Given the description of an element on the screen output the (x, y) to click on. 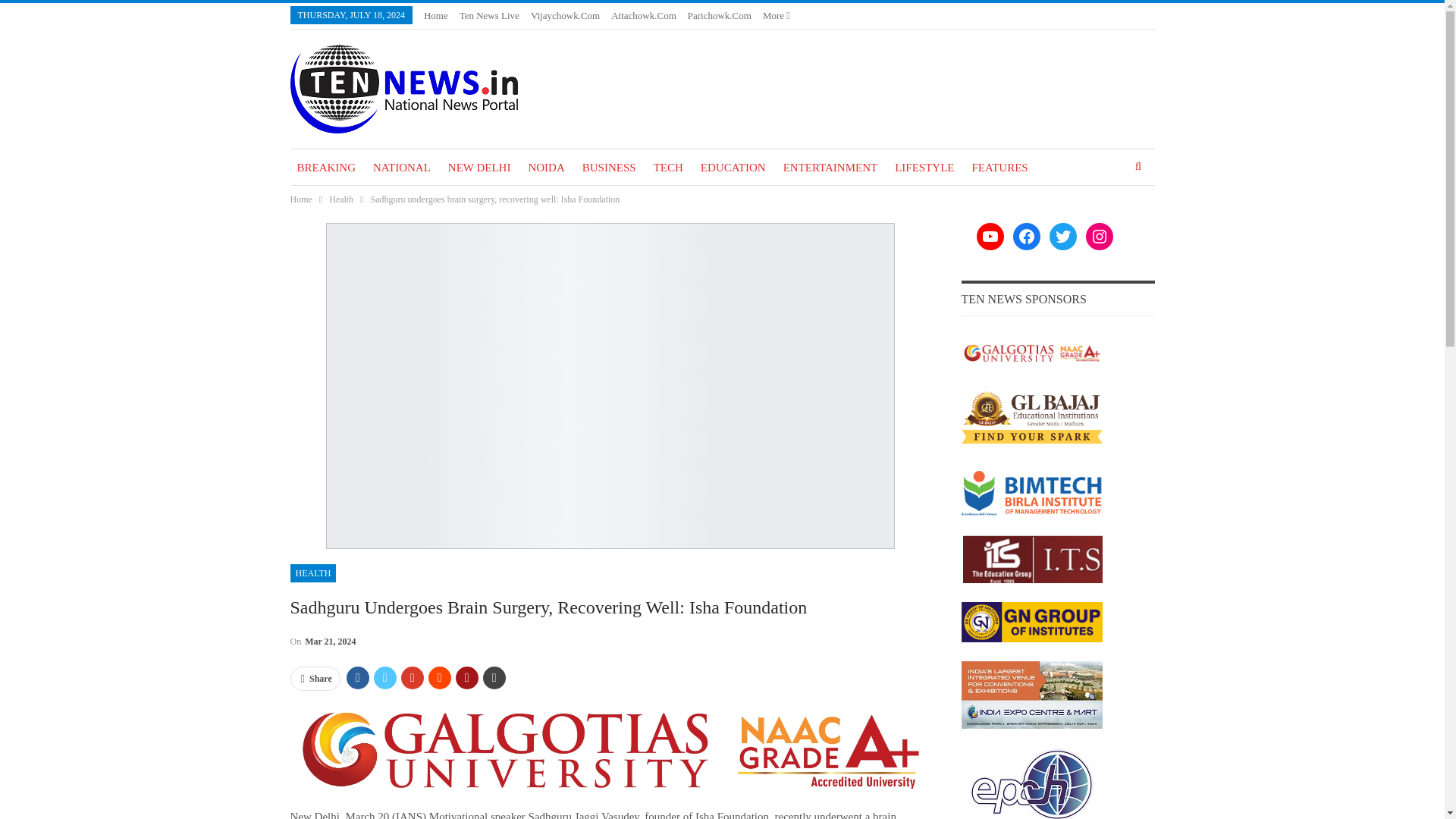
Parichowk.Com (719, 15)
LIFESTYLE (924, 167)
TECH (668, 167)
EDUCATION (733, 167)
Home (300, 199)
NEW DELHI (479, 167)
ENTERTAINMENT (830, 167)
Attachowk.Com (644, 15)
NOIDA (545, 167)
FEATURES (1000, 167)
Vijaychowk.Com (565, 15)
Home (435, 15)
Ten News Live (489, 15)
HEALTH (312, 573)
BREAKING (325, 167)
